Given the description of an element on the screen output the (x, y) to click on. 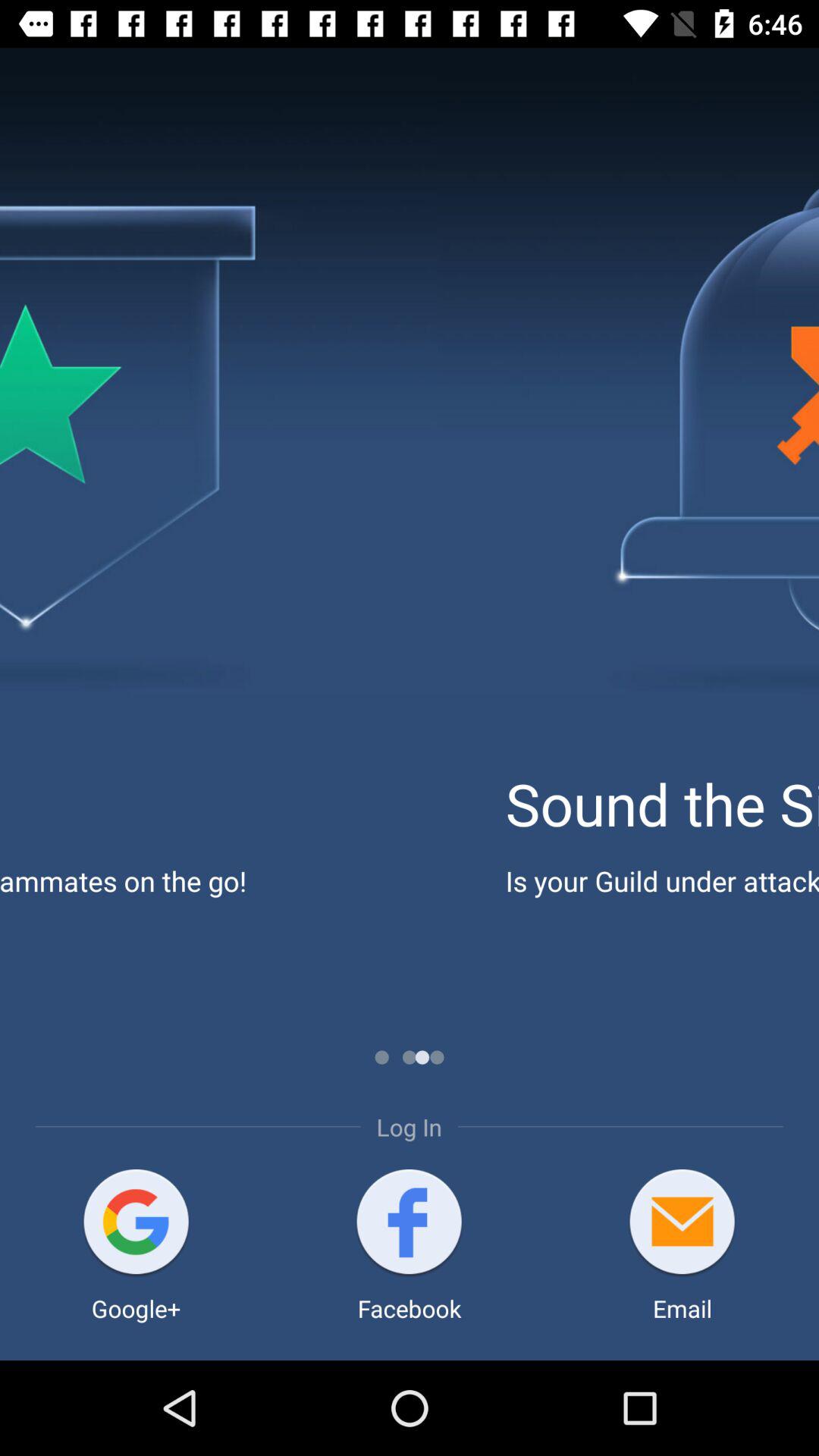
open google (135, 1223)
